Given the description of an element on the screen output the (x, y) to click on. 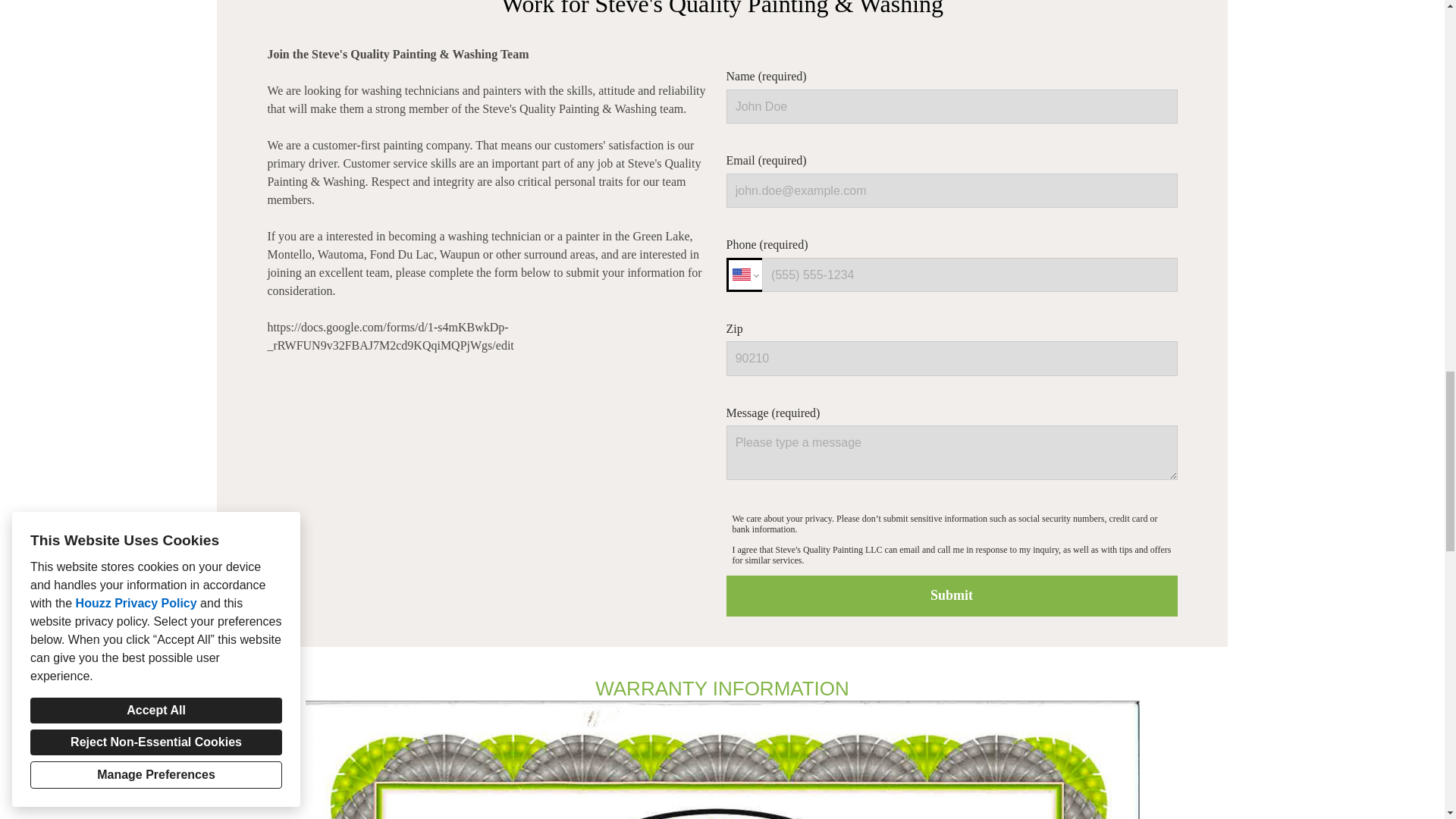
Submit (951, 595)
